Given the description of an element on the screen output the (x, y) to click on. 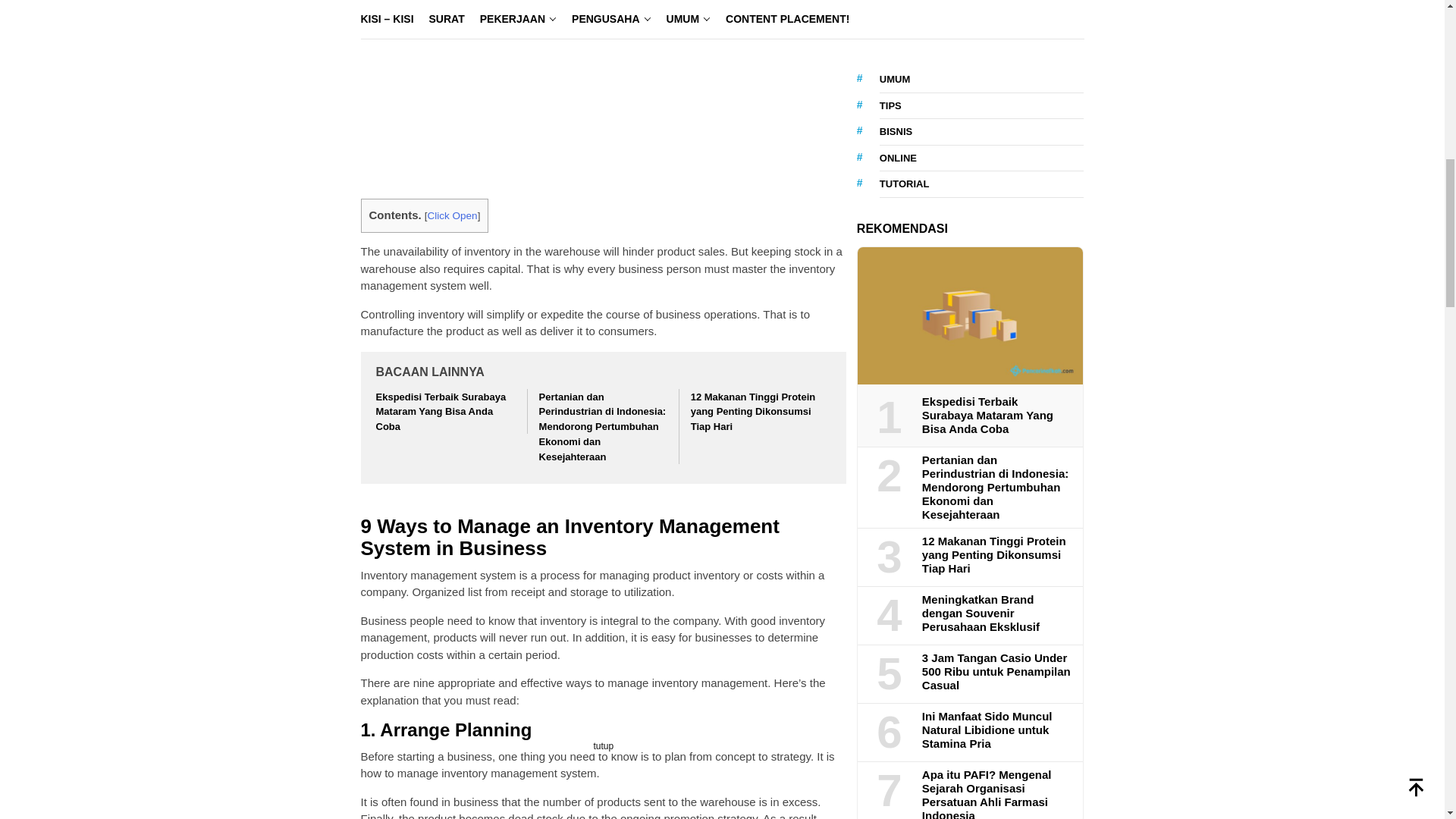
Advertisement (603, 92)
Click Open (452, 215)
